Given the description of an element on the screen output the (x, y) to click on. 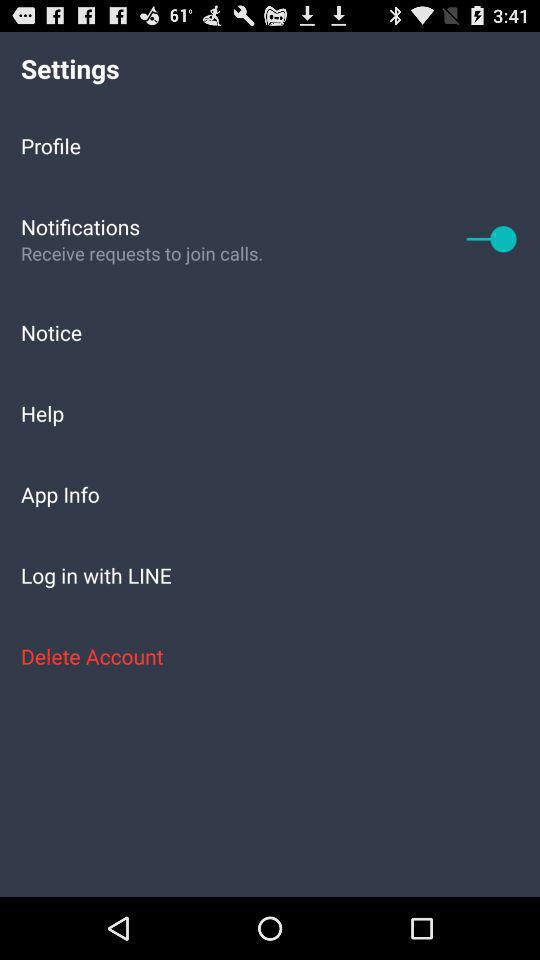
click item at the top (270, 145)
